Given the description of an element on the screen output the (x, y) to click on. 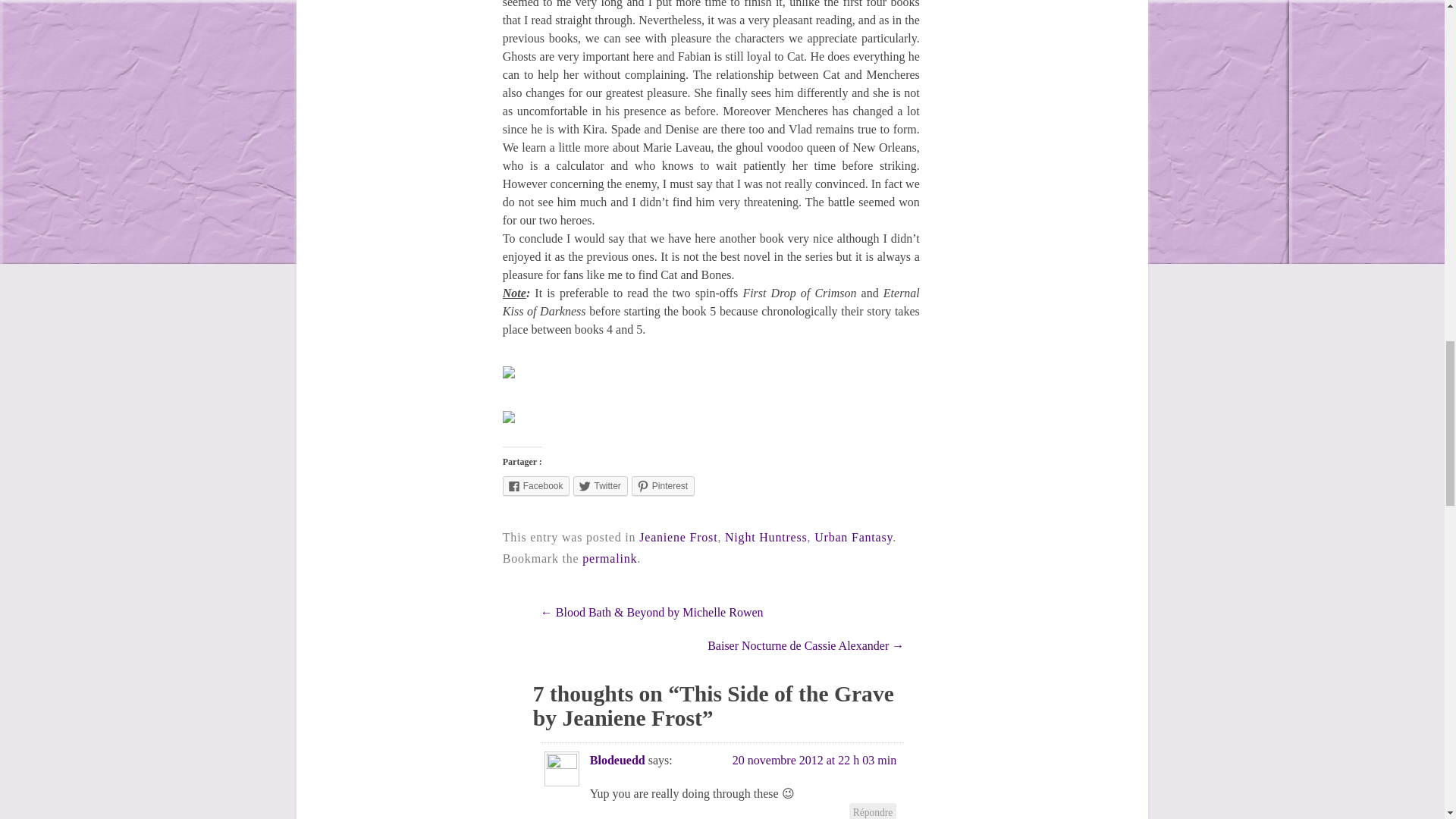
Cliquez pour partager sur Facebook (536, 485)
Blodeuedd (617, 759)
Night Huntress (766, 536)
Jeaniene Frost (678, 536)
Pinterest (662, 485)
Urban Fantasy (852, 536)
Permalink to This Side of the Grave by Jeaniene Frost (609, 558)
Facebook (536, 485)
Cliquez pour partager sur Pinterest (662, 485)
Twitter (600, 485)
